Given the description of an element on the screen output the (x, y) to click on. 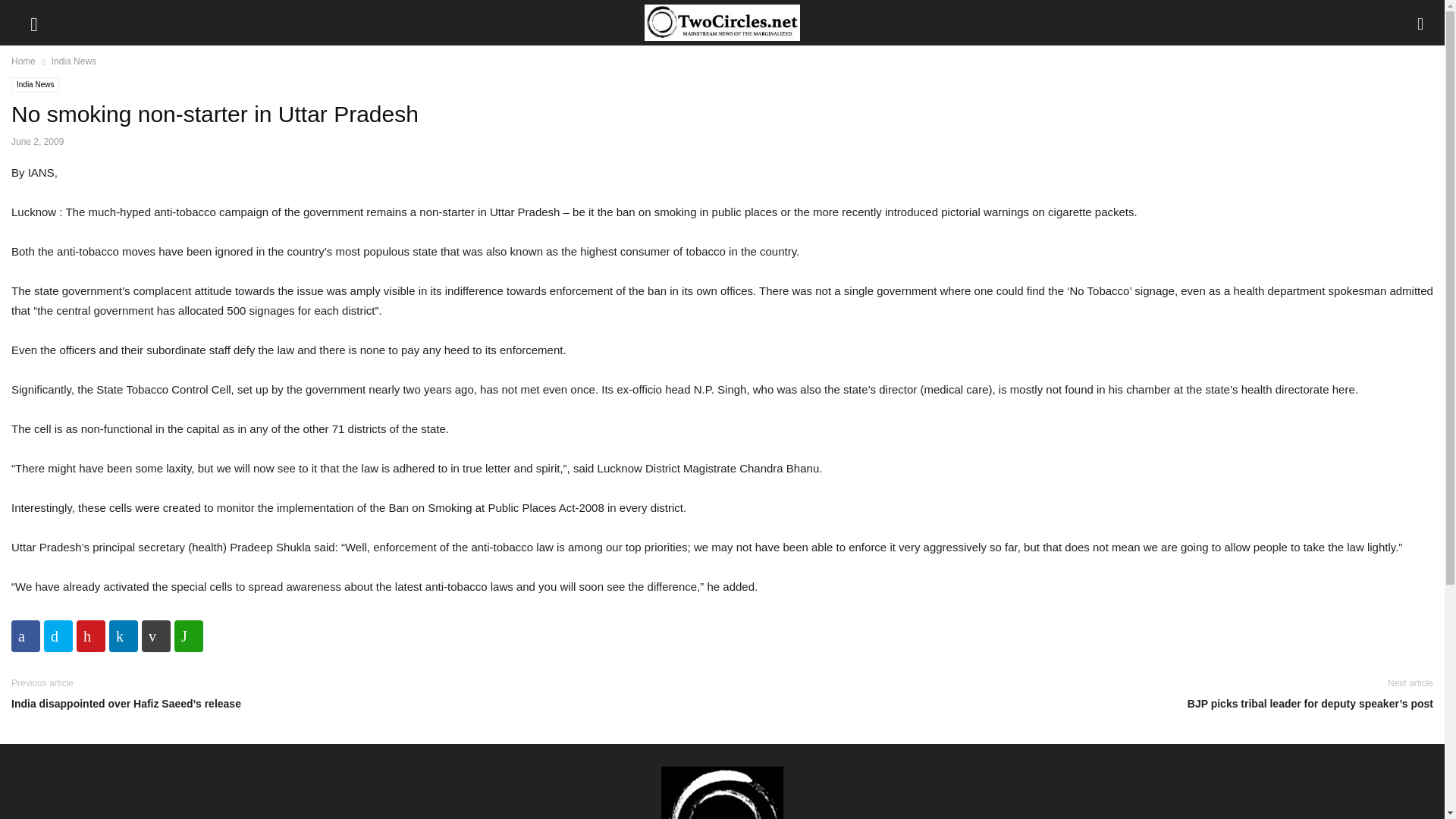
Search (26, 11)
Share on Email (155, 635)
Share on Facebook (25, 635)
View all posts in India News (73, 61)
Share on Twitter (57, 635)
Home (22, 61)
Share on WhatsApp (188, 635)
India News (35, 84)
India News (73, 61)
Share on Pinterest (90, 635)
Share on LinkedIn (123, 635)
